Given the description of an element on the screen output the (x, y) to click on. 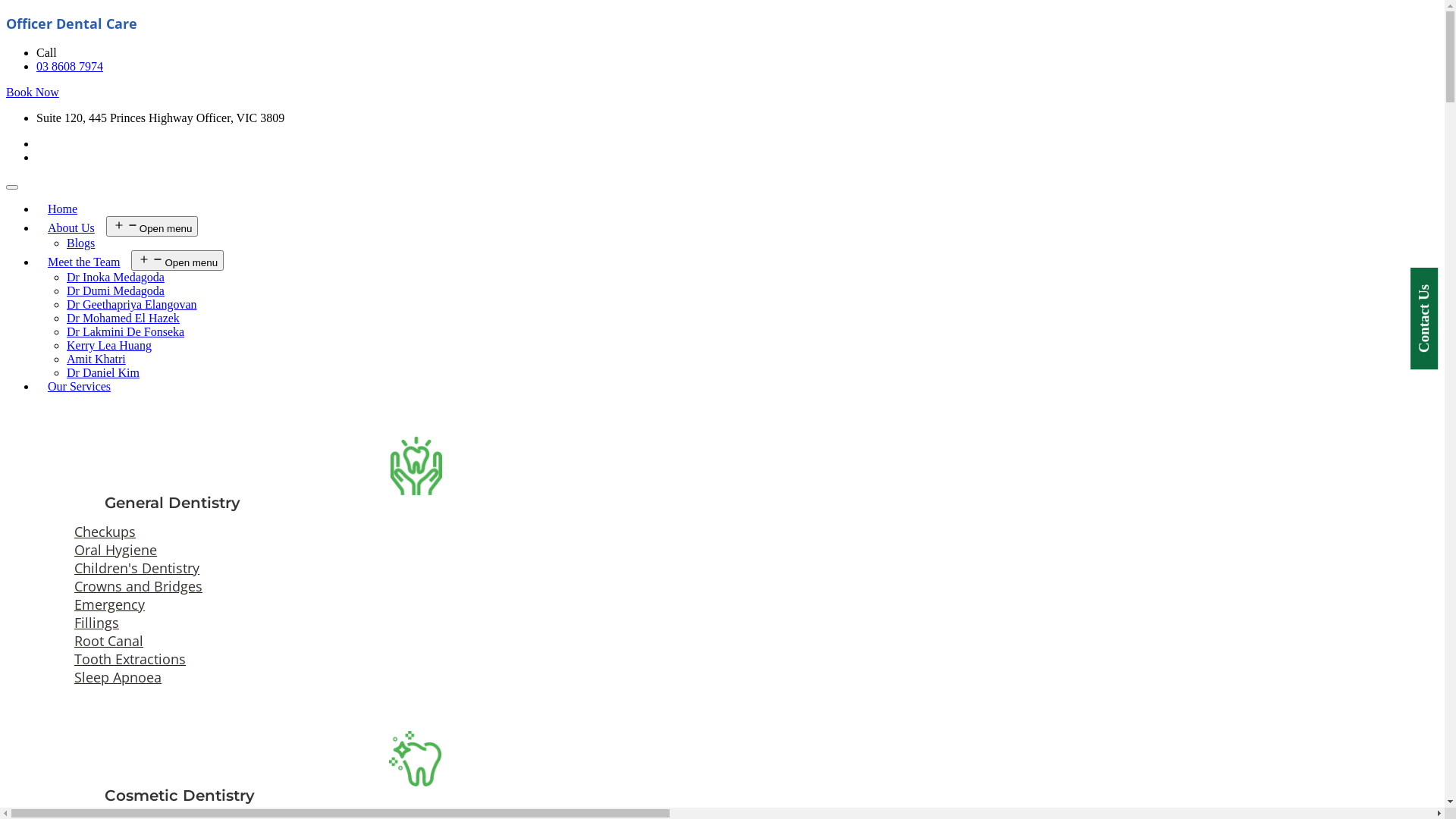
Crowns and Bridges Element type: text (415, 586)
Open menu Element type: text (152, 226)
Amit Khatri Element type: text (95, 358)
Oral Hygiene Element type: text (415, 549)
Home Element type: text (62, 208)
03 8608 7974 Element type: text (69, 65)
Open menu Element type: text (177, 260)
Meet the Team Element type: text (83, 261)
Fillings Element type: text (415, 622)
About Us Element type: text (71, 227)
Dr Inoka Medagoda Element type: text (115, 276)
Children's Dentistry Element type: text (415, 567)
Root Canal Element type: text (415, 640)
Kerry Lea Huang Element type: text (108, 344)
Tooth Extractions Element type: text (415, 658)
Blogs Element type: text (80, 242)
Dr Mohamed El Hazek Element type: text (122, 317)
Dr Lakmini De Fonseka Element type: text (125, 331)
Our Services Element type: text (79, 385)
Emergency Element type: text (415, 604)
Checkups Element type: text (415, 531)
Dr Daniel Kim Element type: text (102, 372)
Dr Dumi Medagoda Element type: text (115, 290)
Dr Geethapriya Elangovan Element type: text (131, 304)
Sleep Apnoea Element type: text (415, 677)
Book Now Element type: text (32, 91)
Officer Dental Care Element type: text (71, 23)
